Given the description of an element on the screen output the (x, y) to click on. 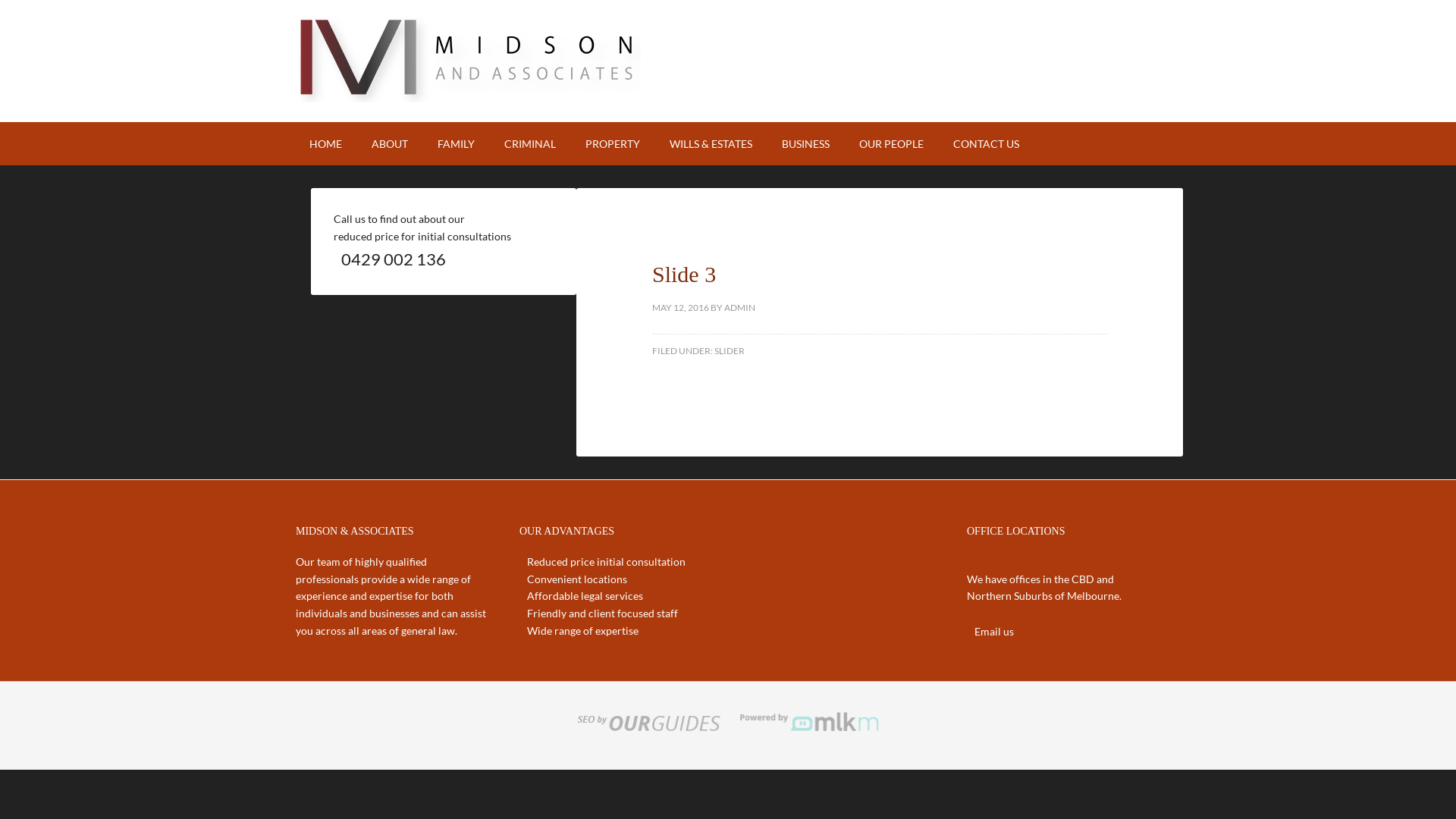
Midson & Associates Element type: hover (467, 93)
WILLS & ESTATES Element type: text (710, 143)
ADMIN Element type: text (739, 307)
SLIDER Element type: text (729, 349)
OUR PEOPLE Element type: text (891, 143)
BUSINESS Element type: text (805, 143)
CONTACT US Element type: text (985, 143)
HOME Element type: text (325, 143)
Skip to primary navigation Element type: text (0, 0)
Email us Element type: text (993, 630)
FAMILY Element type: text (455, 143)
PROPERTY Element type: text (612, 143)
CRIMINAL Element type: text (529, 143)
ABOUT Element type: text (389, 143)
